Given the description of an element on the screen output the (x, y) to click on. 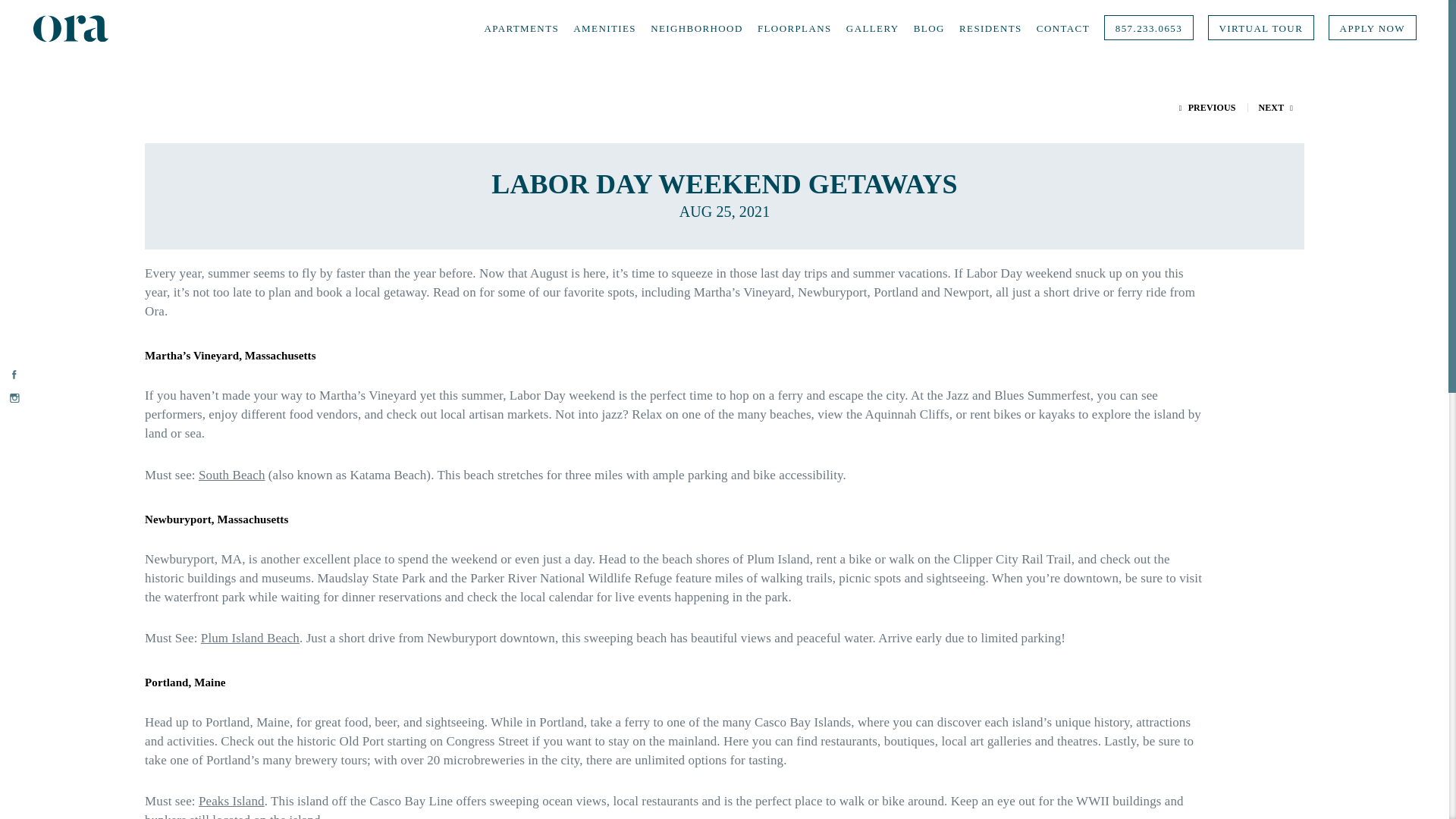
High End Apartment Living at Ora Seaport Boston (521, 28)
click to go to Next post (1275, 107)
click here to visit Facebook Page (15, 376)
ORA Is Located in the Iconic Boston Seaport Neighborhood (696, 28)
Logo of Ora Seaport Apartments in Boston (70, 28)
Peaks Island (231, 800)
click to go to Previous post (1207, 107)
click here to visit Instagram Page (15, 399)
ORA Seaport Photo Gallery (872, 28)
ORA Offers World-Class Apartment Amenities to Boston Seaport (604, 28)
